Given the description of an element on the screen output the (x, y) to click on. 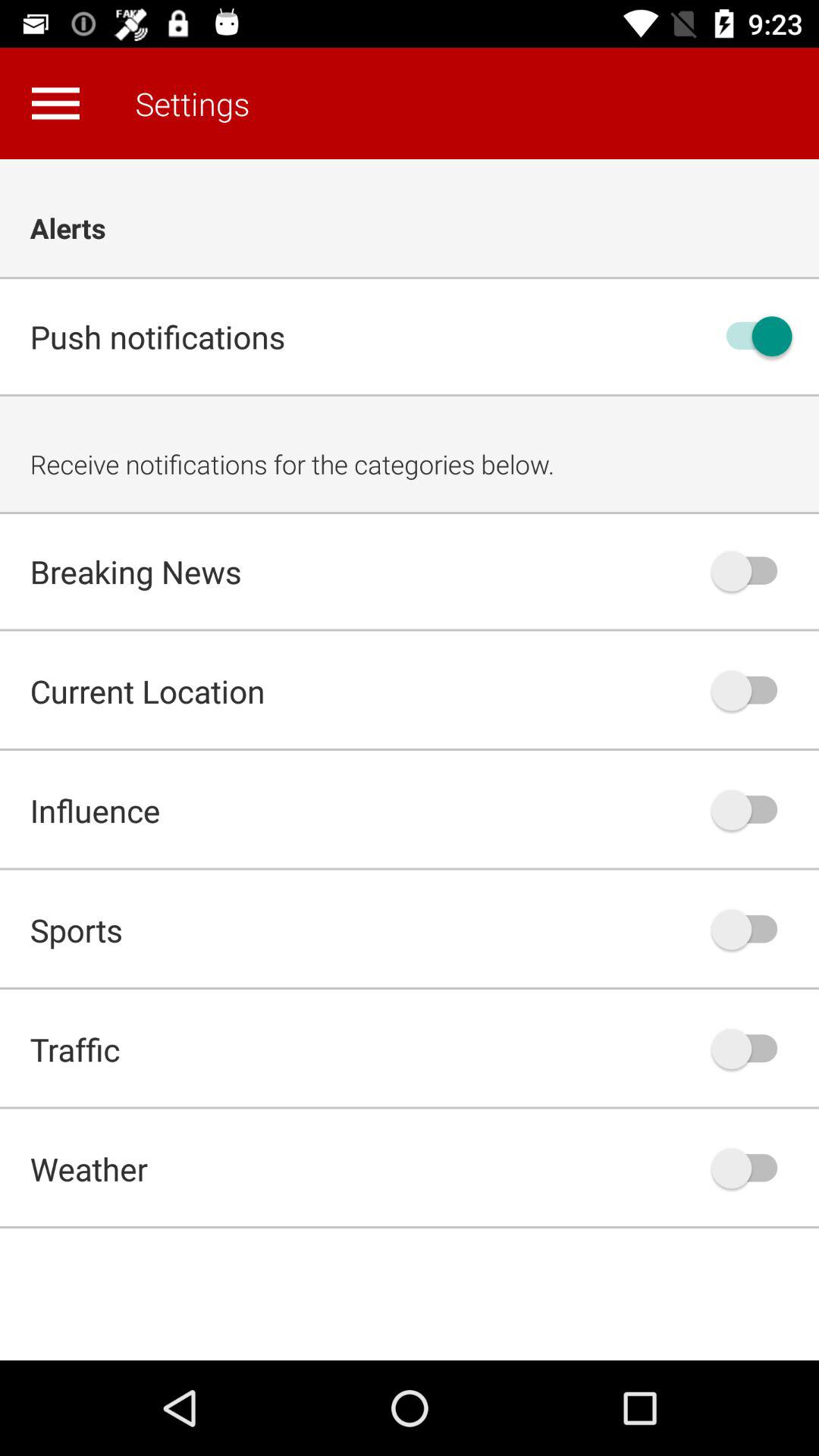
toggle on button (751, 336)
